Given the description of an element on the screen output the (x, y) to click on. 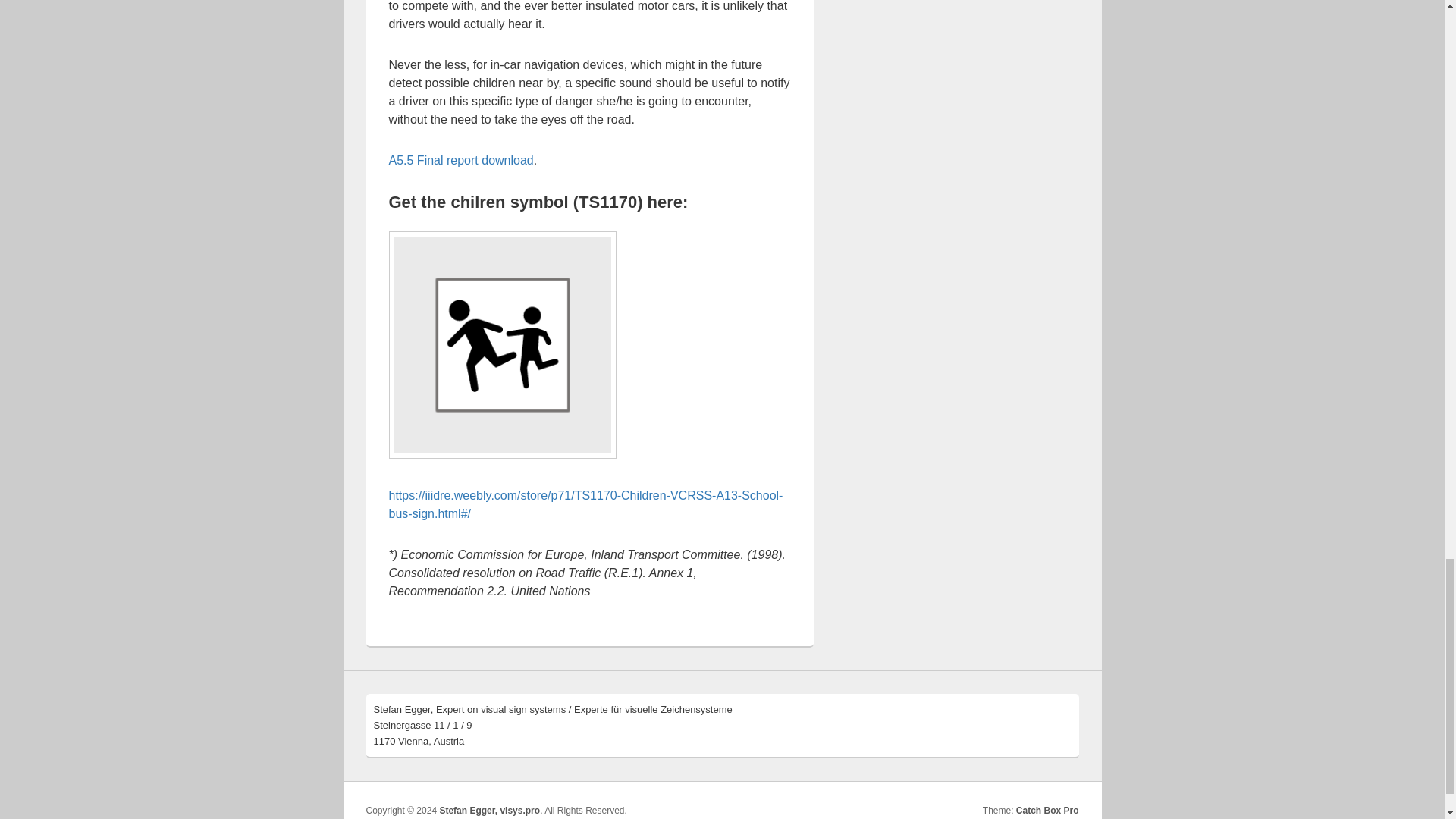
Stefan Egger, visys.pro (489, 810)
Catch Box Pro (1047, 810)
Catch Box Pro (1047, 810)
Stefan Egger, visys.pro (489, 810)
A5.5 Final report download (460, 160)
A5.5 Final Report (460, 160)
